Given the description of an element on the screen output the (x, y) to click on. 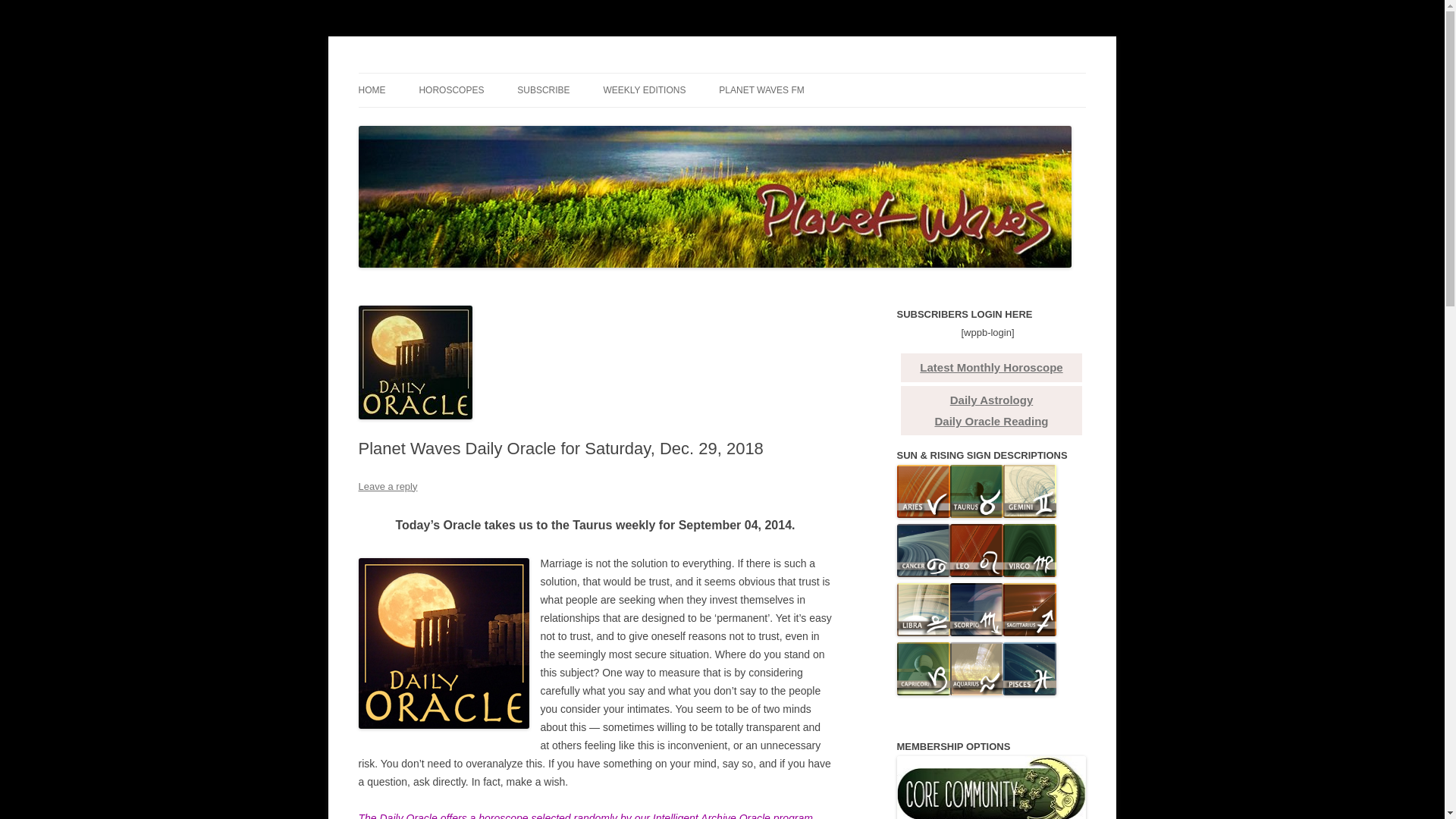
WEEKLY EDITIONS (644, 90)
HOROSCOPES (451, 90)
Latest Monthly Horoscope (991, 367)
Planet Waves Astrology by Eric Francis and Friends (601, 72)
PLANET WAVES FM (761, 90)
Leave a reply (387, 486)
SUBSCRIBE (542, 90)
Daily Astrology (991, 399)
Daily Oracle Reading (991, 420)
READINGS (433, 122)
